Given the description of an element on the screen output the (x, y) to click on. 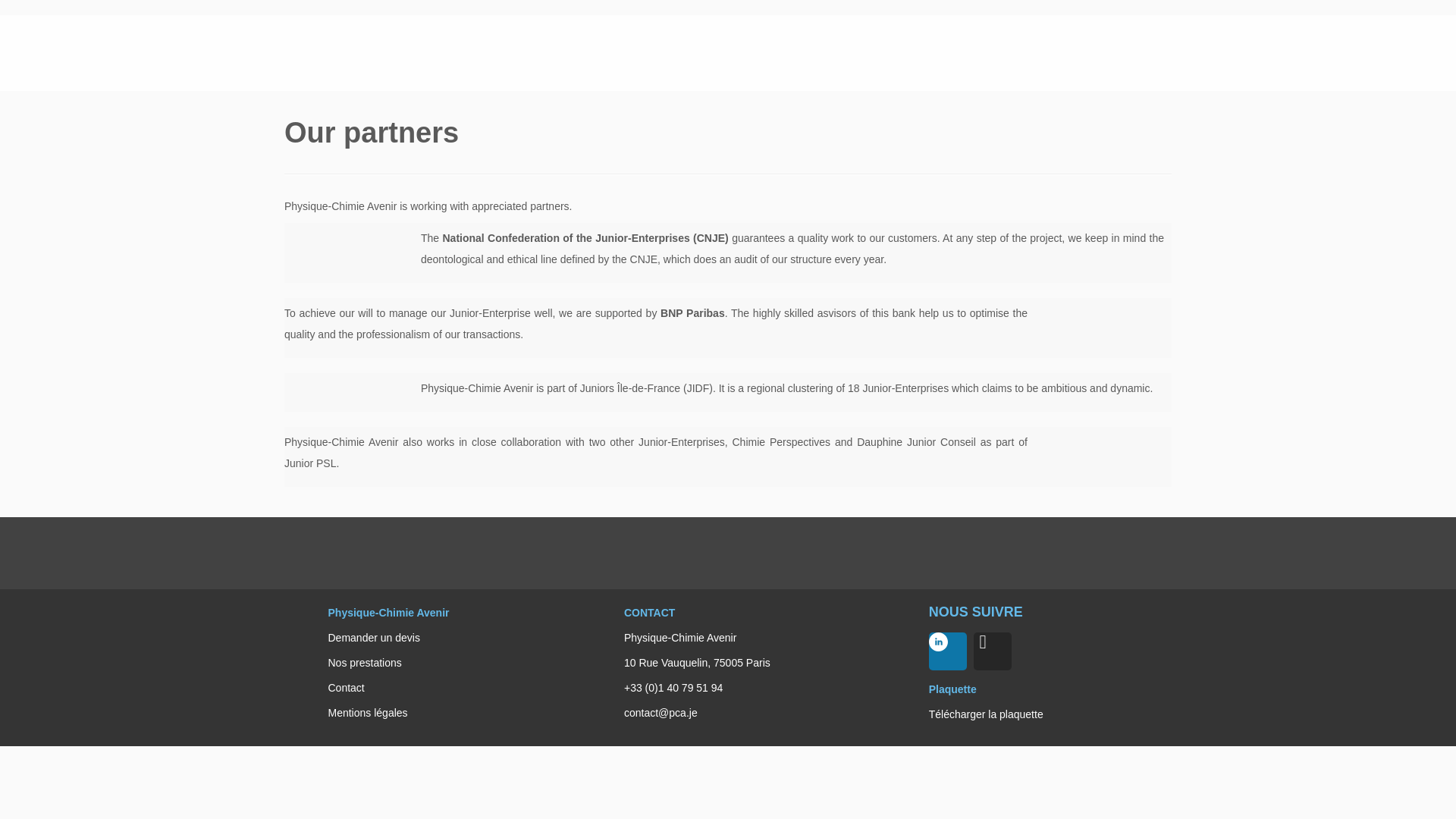
Nos prestation (361, 662)
Demander un devis (373, 637)
Physique-Chimie Avenir (387, 612)
